Given the description of an element on the screen output the (x, y) to click on. 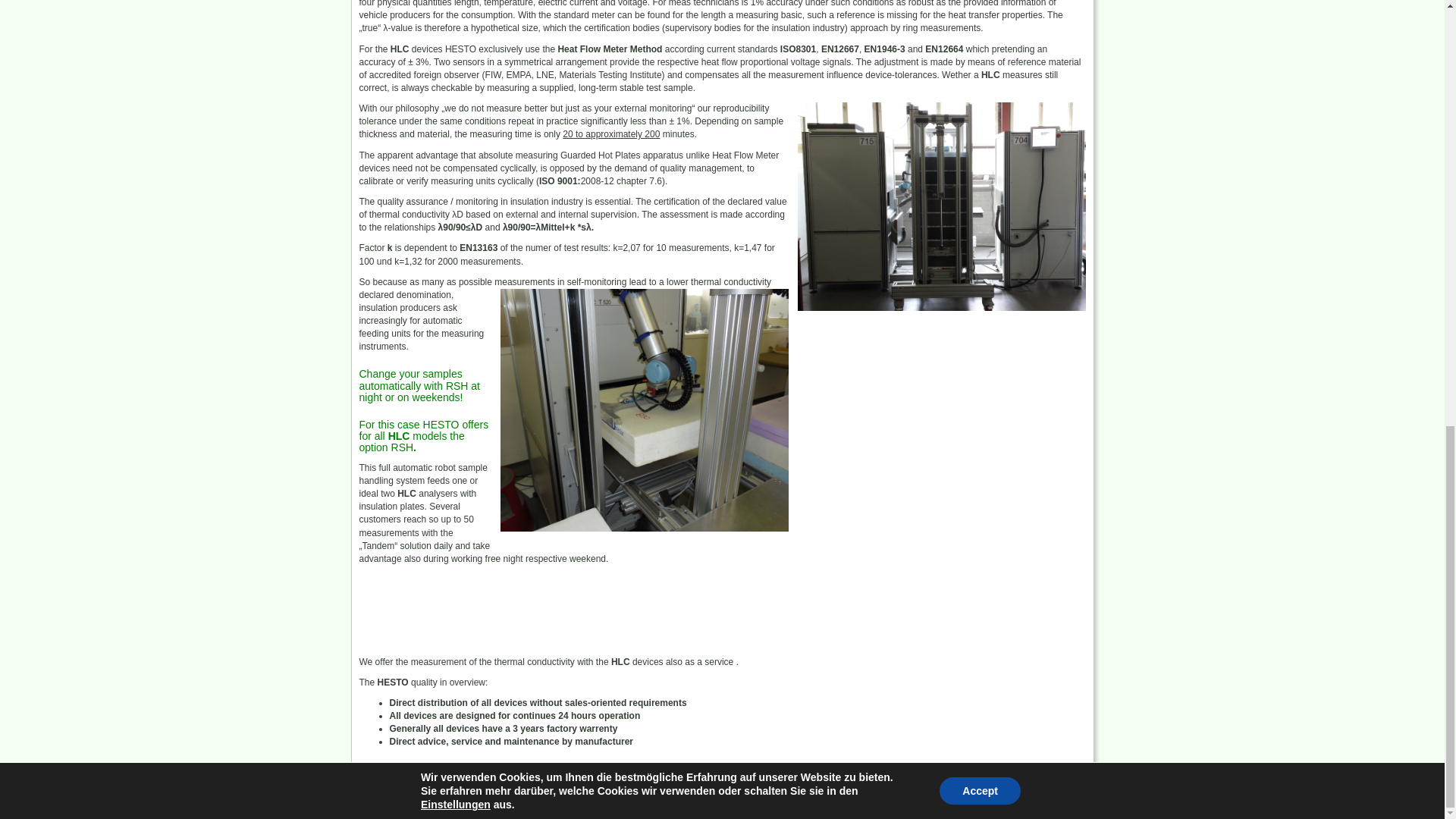
RSH (402, 447)
